Given the description of an element on the screen output the (x, y) to click on. 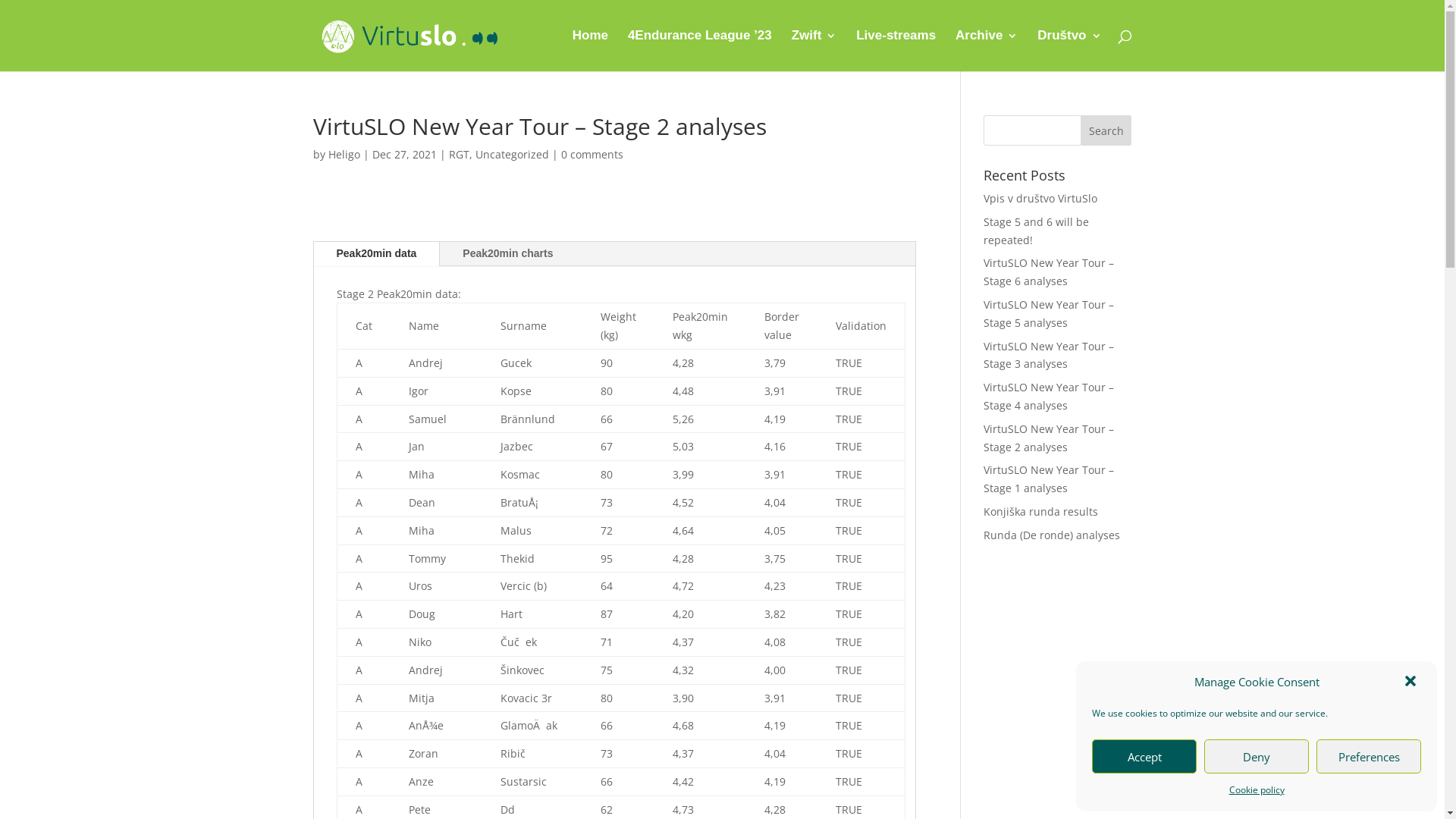
Live-streams Element type: text (895, 50)
Zwift Element type: text (814, 50)
Peak20min charts Element type: text (507, 253)
Uncategorized Element type: text (511, 154)
Runda (De ronde) analyses Element type: text (1051, 534)
Peak20min data Element type: text (376, 253)
Deny Element type: text (1256, 756)
Search Element type: text (1106, 130)
Cookie policy Element type: text (1255, 790)
0 comments Element type: text (592, 154)
RGT Element type: text (458, 154)
Preferences Element type: text (1368, 756)
Accept Element type: text (1144, 756)
Heligo Element type: text (343, 154)
Stage 5 and 6 will be repeated! Element type: text (1035, 230)
Home Element type: text (590, 50)
Archive Element type: text (986, 50)
